Given the description of an element on the screen output the (x, y) to click on. 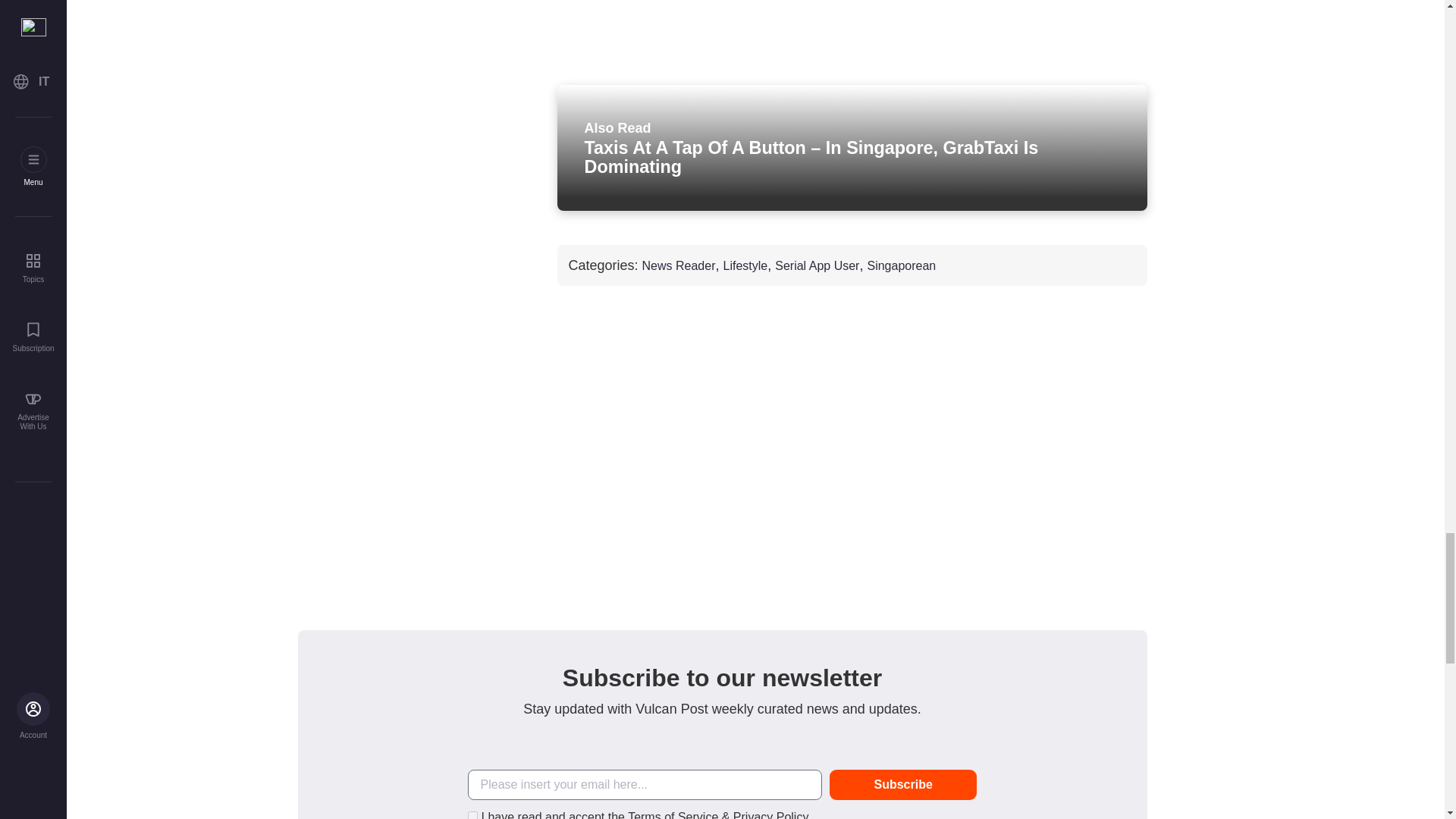
Subscribe (902, 784)
Singaporean (901, 265)
News Reader (679, 265)
Lifestyle (745, 265)
on (472, 815)
Serial App User (816, 265)
